Given the description of an element on the screen output the (x, y) to click on. 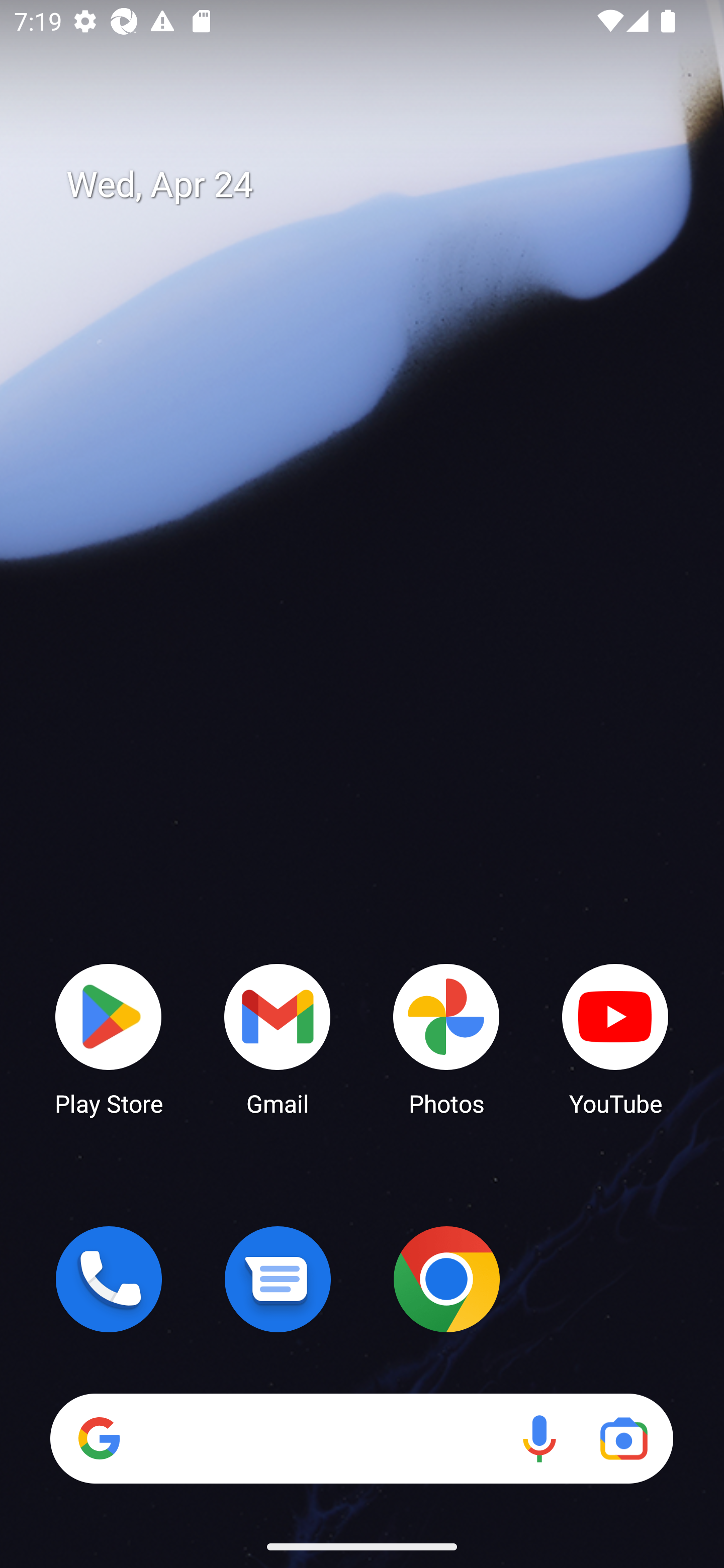
Wed, Apr 24 (375, 184)
Play Store (108, 1038)
Gmail (277, 1038)
Photos (445, 1038)
YouTube (615, 1038)
Phone (108, 1279)
Messages (277, 1279)
Chrome (446, 1279)
Search Voice search Google Lens (361, 1438)
Voice search (539, 1438)
Google Lens (623, 1438)
